Given the description of an element on the screen output the (x, y) to click on. 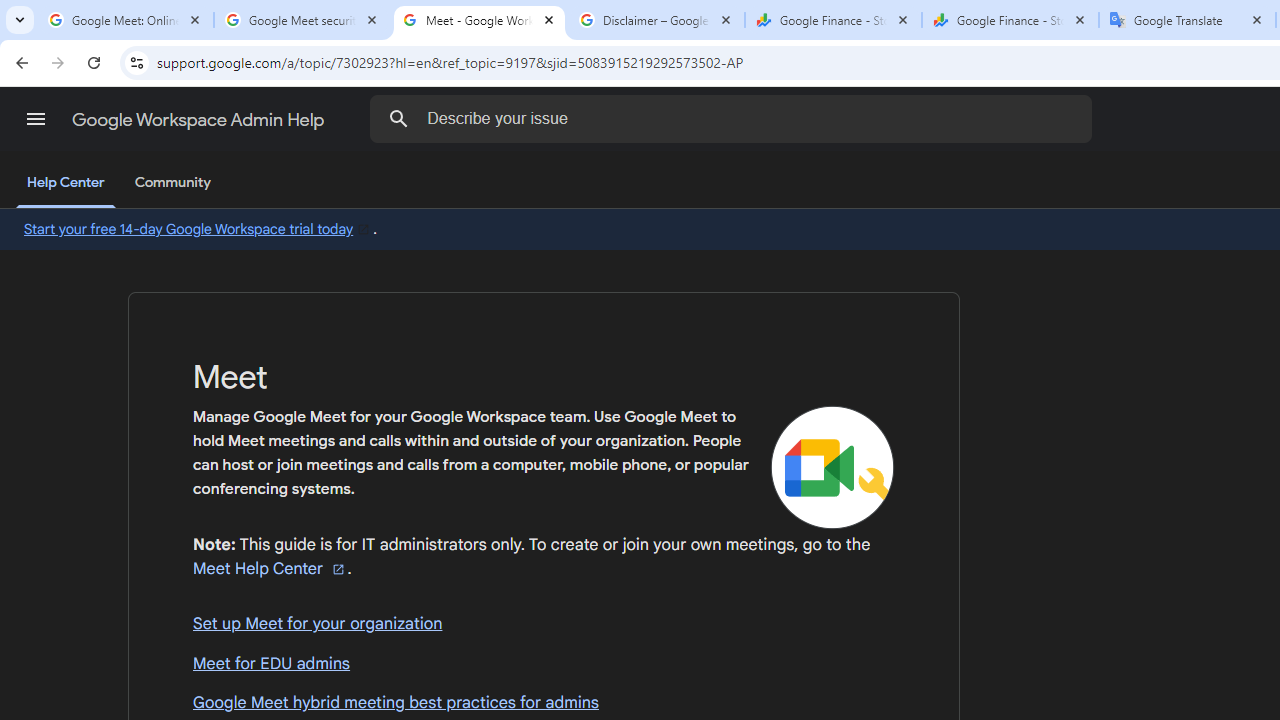
Google Workspace Admin Help (199, 119)
Community (171, 183)
Describe your issue (735, 118)
Search Help Center (399, 118)
Start your free 14-day Google Workspace trial today (198, 229)
Set up Meet for your organization (543, 625)
